Given the description of an element on the screen output the (x, y) to click on. 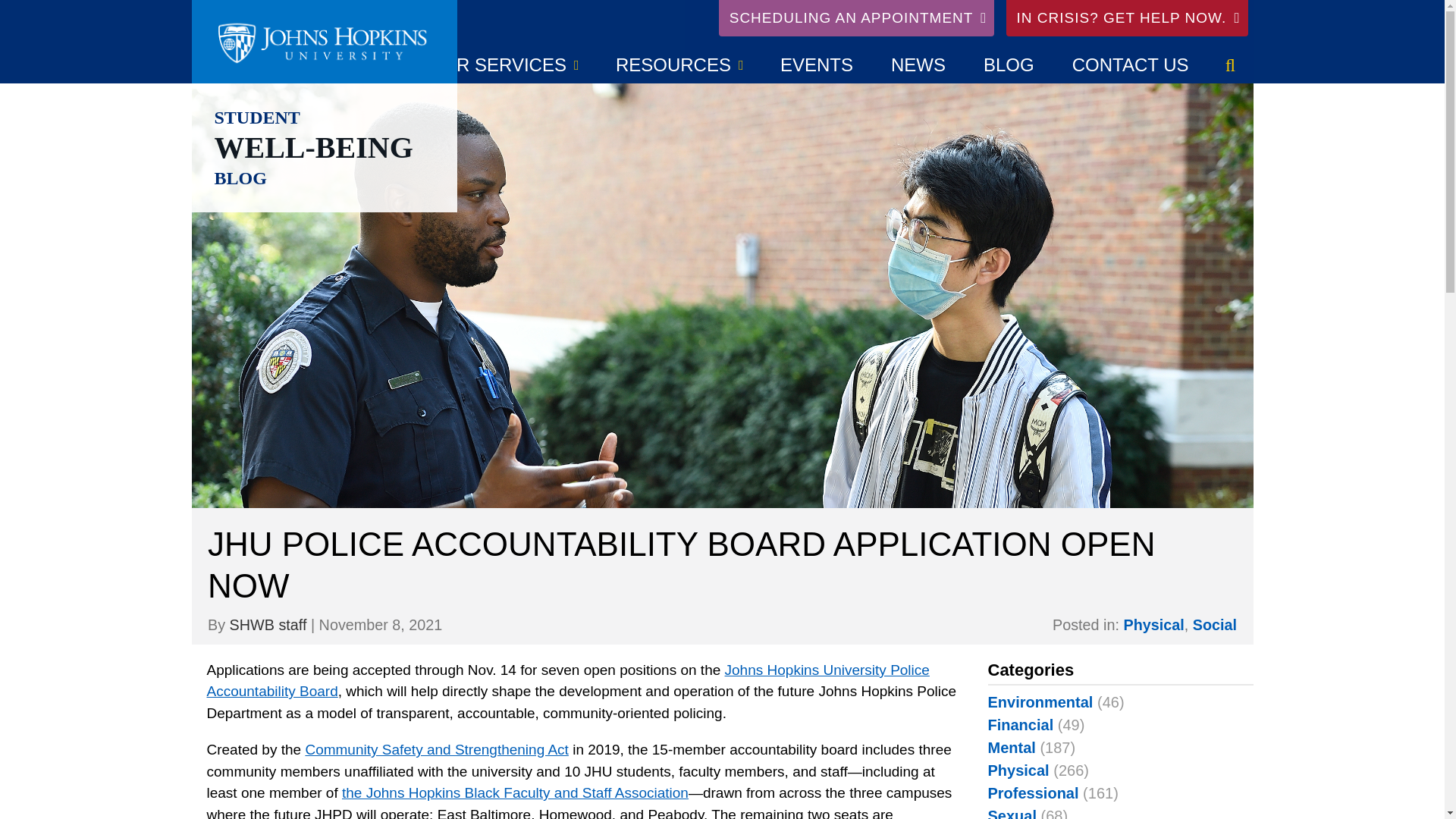
SCHEDULING AN APPOINTMENT (856, 18)
OUR SERVICES (503, 64)
Physical (1152, 624)
Search (1229, 64)
the Johns Hopkins Black Faculty and Staff Association (515, 792)
IN CRISIS? GET HELP NOW. (1126, 18)
CONTACT US (1130, 64)
Johns Hopkins University Student Well-Being (323, 41)
EVENTS (816, 64)
Community Safety and Strengthening Act (435, 749)
